Given the description of an element on the screen output the (x, y) to click on. 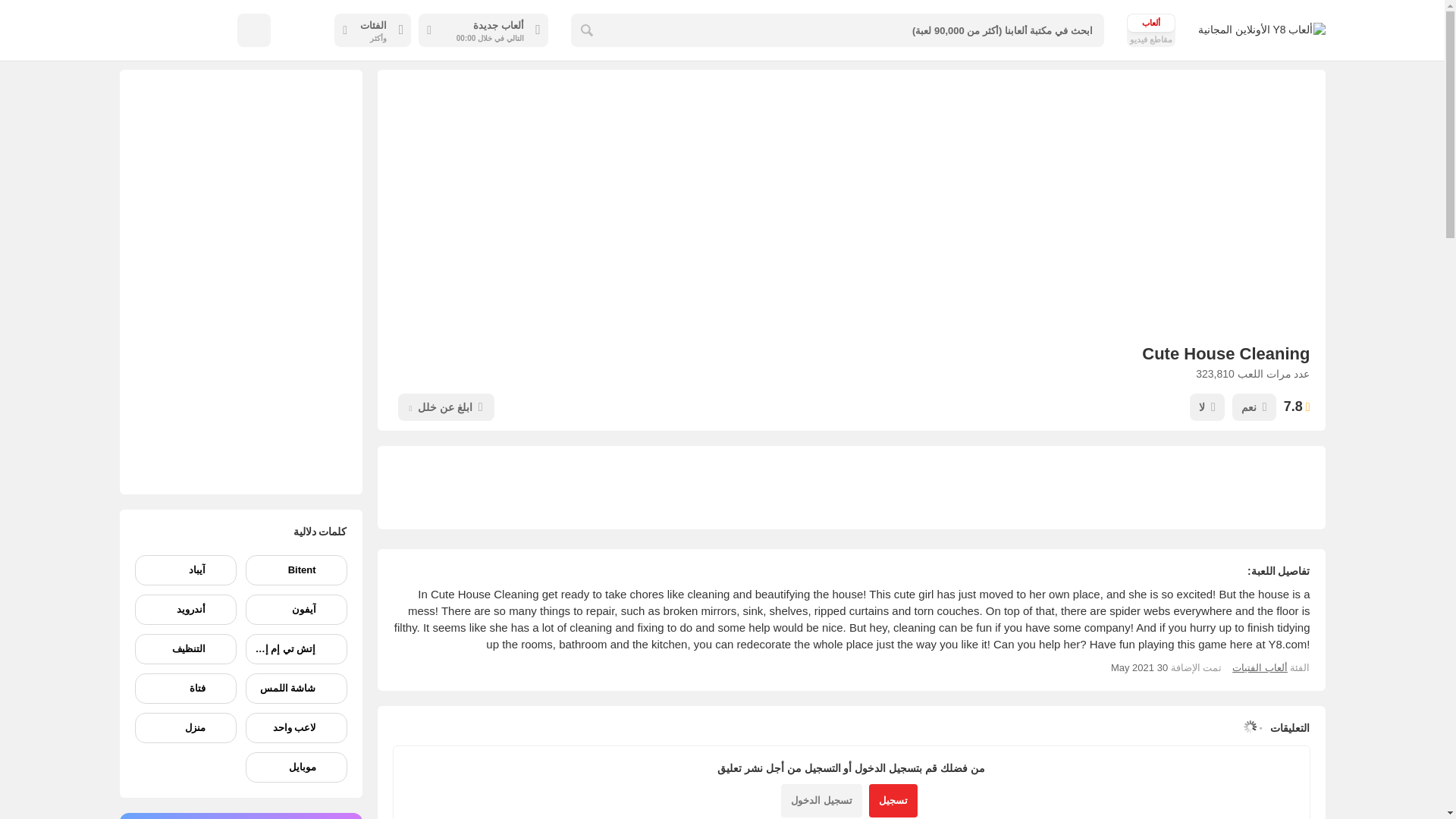
Bitent (296, 570)
Girls (1259, 667)
